Given the description of an element on the screen output the (x, y) to click on. 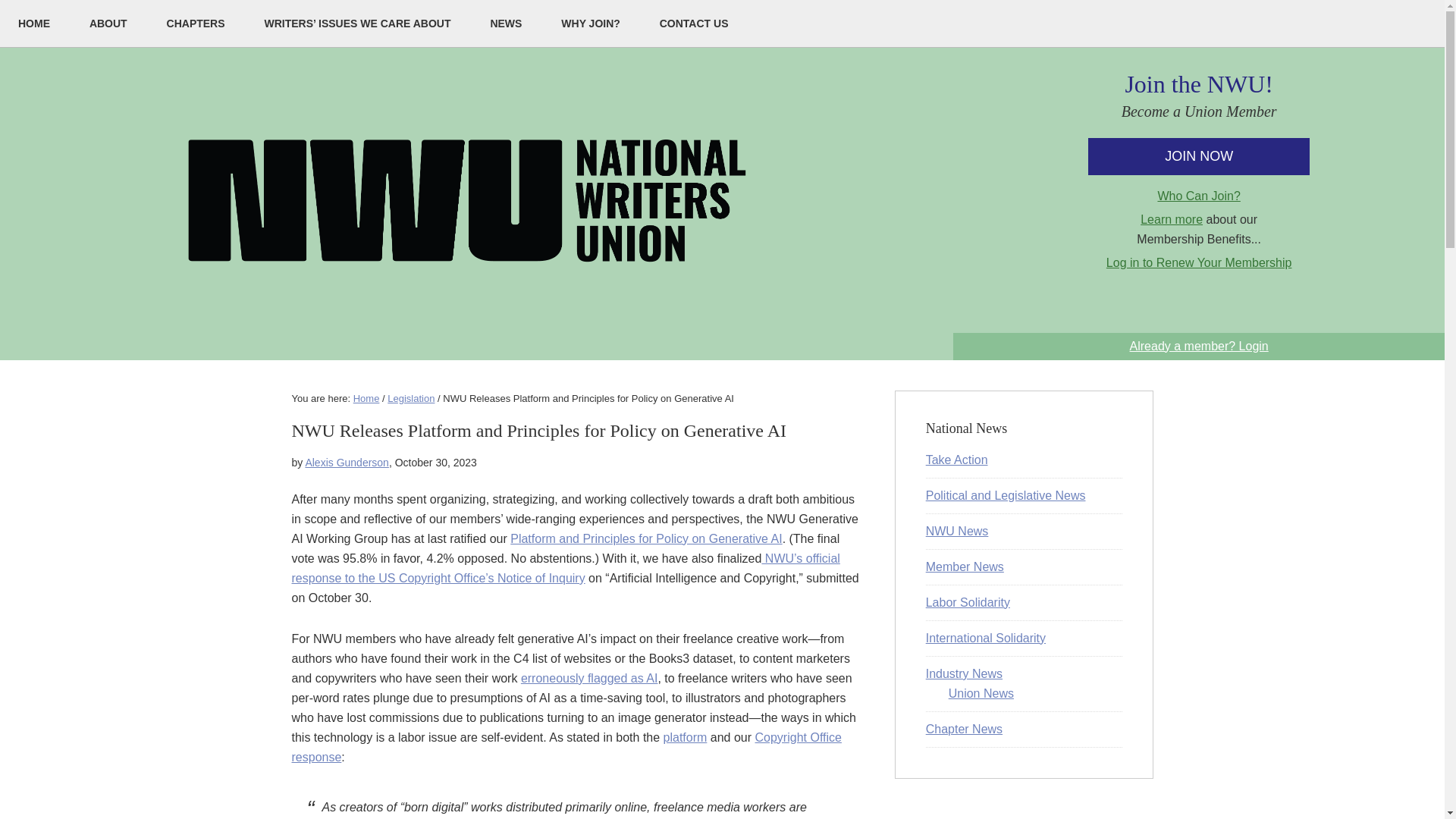
ABOUT (108, 23)
HOME (34, 23)
Posts by Alexis Gunderson (346, 462)
Login (1198, 345)
CHAPTERS (195, 23)
WHY JOIN? (591, 23)
CONTACT US (694, 23)
NEWS (505, 23)
